Given the description of an element on the screen output the (x, y) to click on. 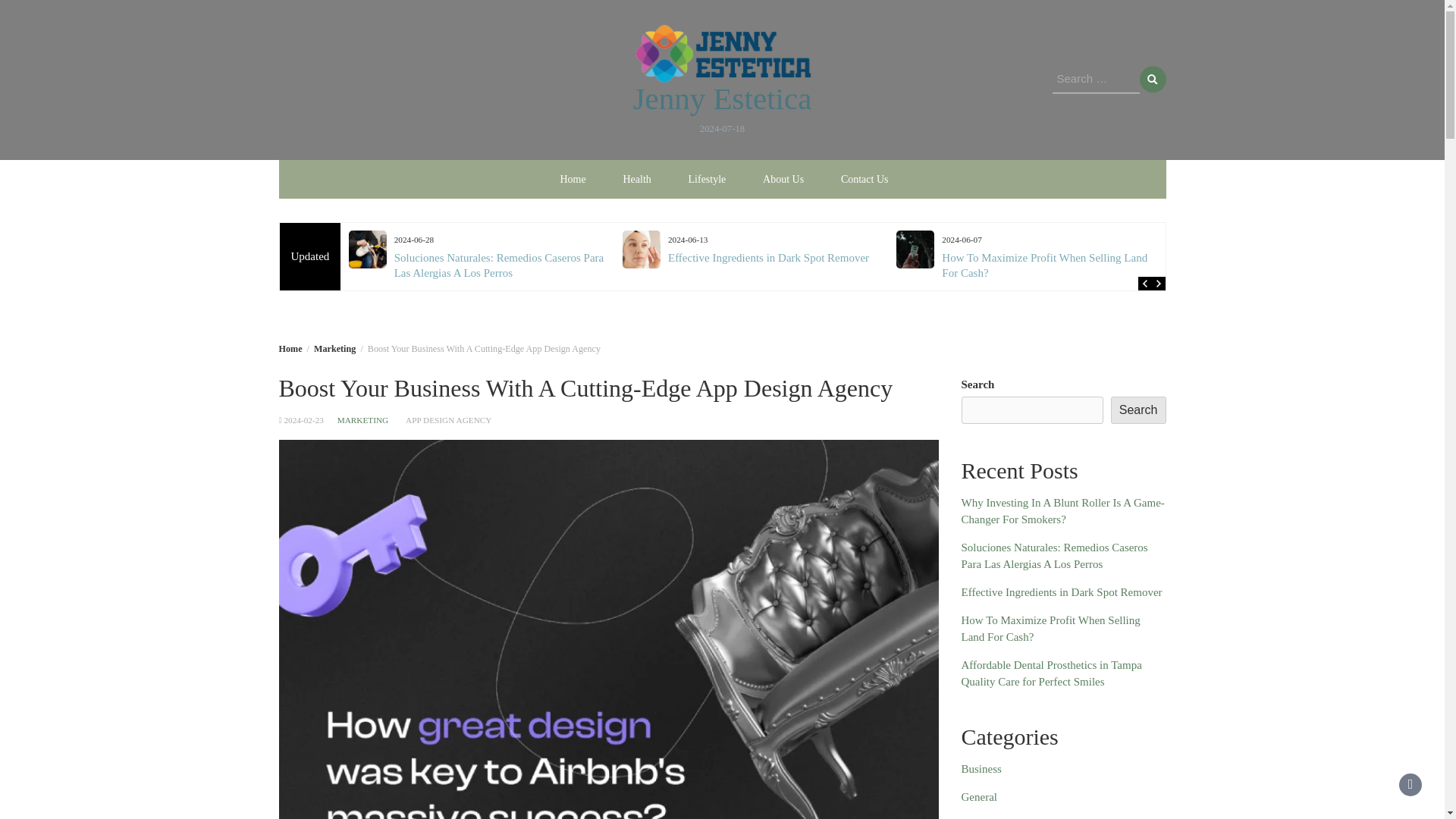
How To Maximize Profit When Selling Land For Cash? (1044, 265)
Search (1152, 79)
2024-02-23 (303, 420)
Home (290, 347)
Health (636, 178)
Contact Us (864, 178)
Search (1152, 79)
Home (571, 178)
Effective Ingredients in Dark Spot Remover (768, 257)
Search (1152, 79)
MARKETING (362, 420)
Lifestyle (706, 178)
Search for: (1096, 80)
APP DESIGN AGENCY (449, 420)
About Us (783, 178)
